Given the description of an element on the screen output the (x, y) to click on. 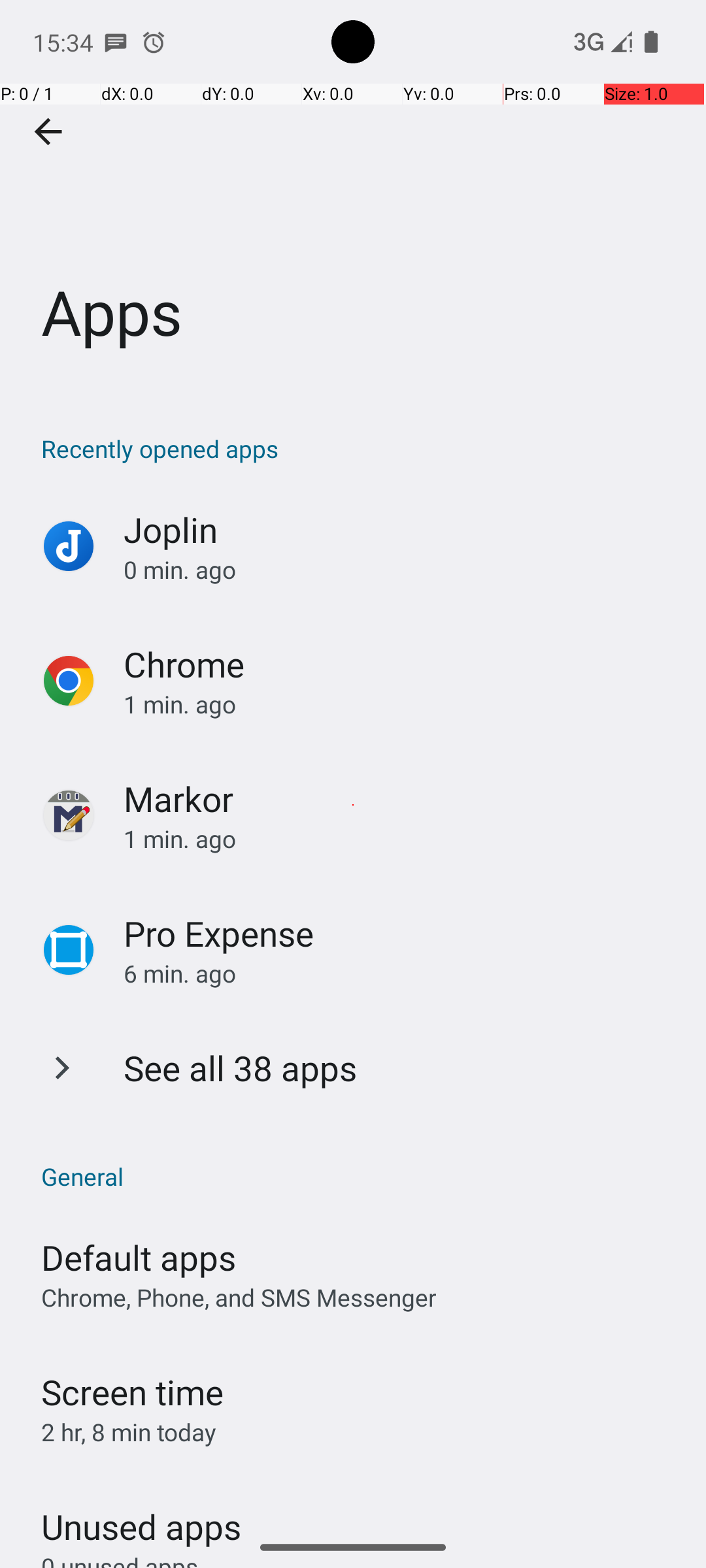
6 min. ago Element type: android.widget.TextView (400, 972)
See all 38 apps Element type: android.widget.TextView (239, 1067)
2 hr, 8 min today Element type: android.widget.TextView (129, 1431)
